Given the description of an element on the screen output the (x, y) to click on. 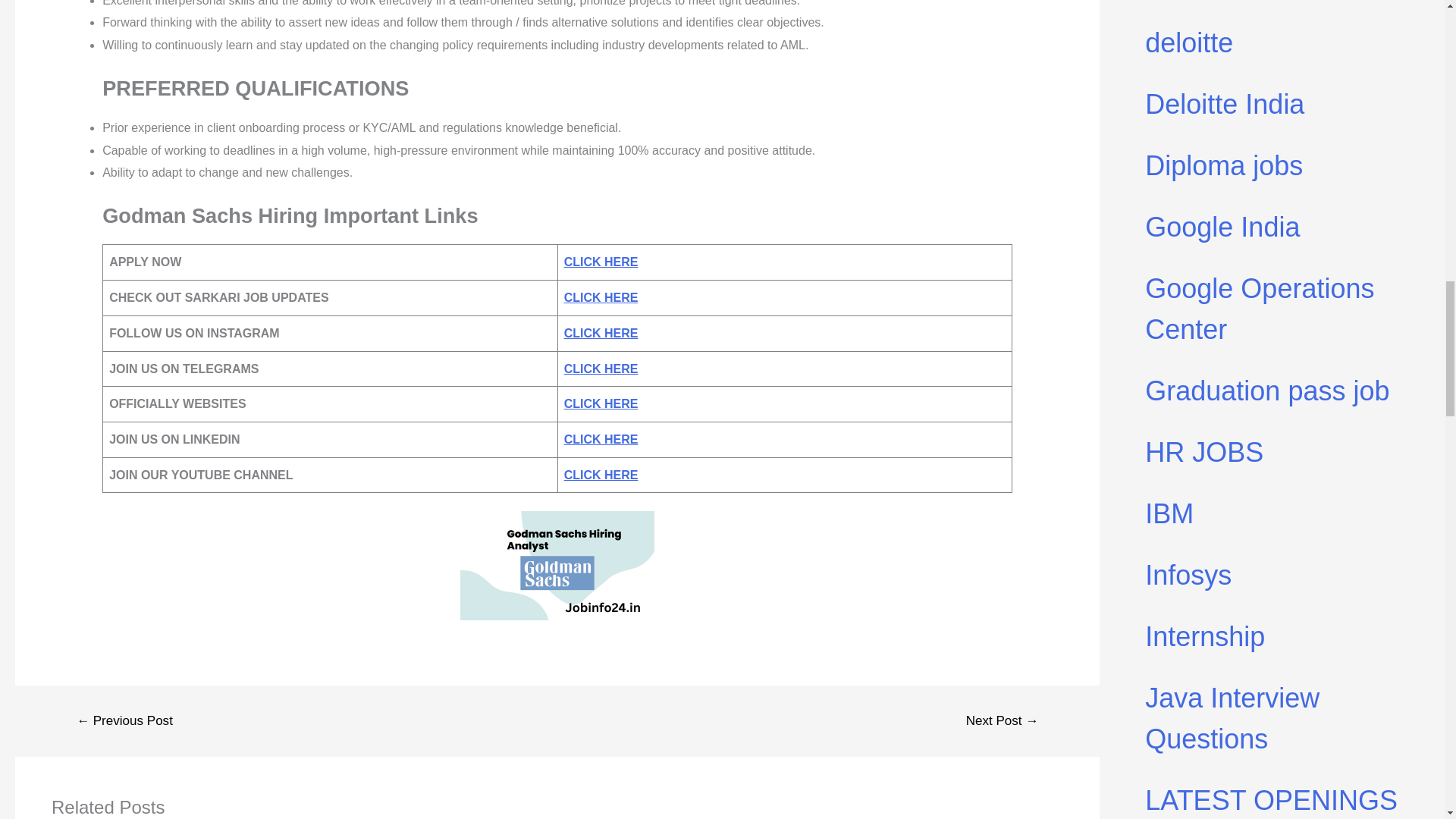
CLICK HERE (601, 332)
CLICK HERE (601, 439)
CLICK HERE (601, 297)
CLICK HERE (601, 368)
CLICK HERE (601, 474)
CLICK HERE (601, 403)
CLICK HERE (601, 261)
Godman Sachs Hiring Analyst 3 (556, 565)
